Given the description of an element on the screen output the (x, y) to click on. 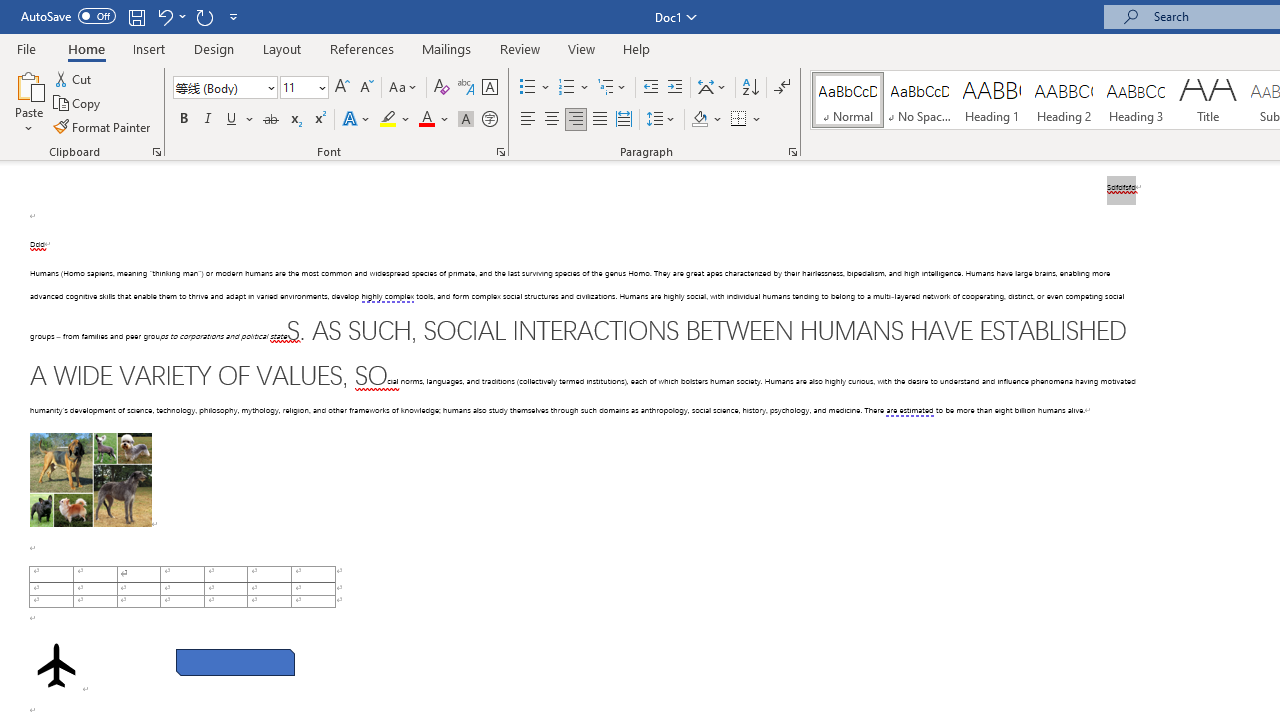
Font Color Red (426, 119)
